Given the description of an element on the screen output the (x, y) to click on. 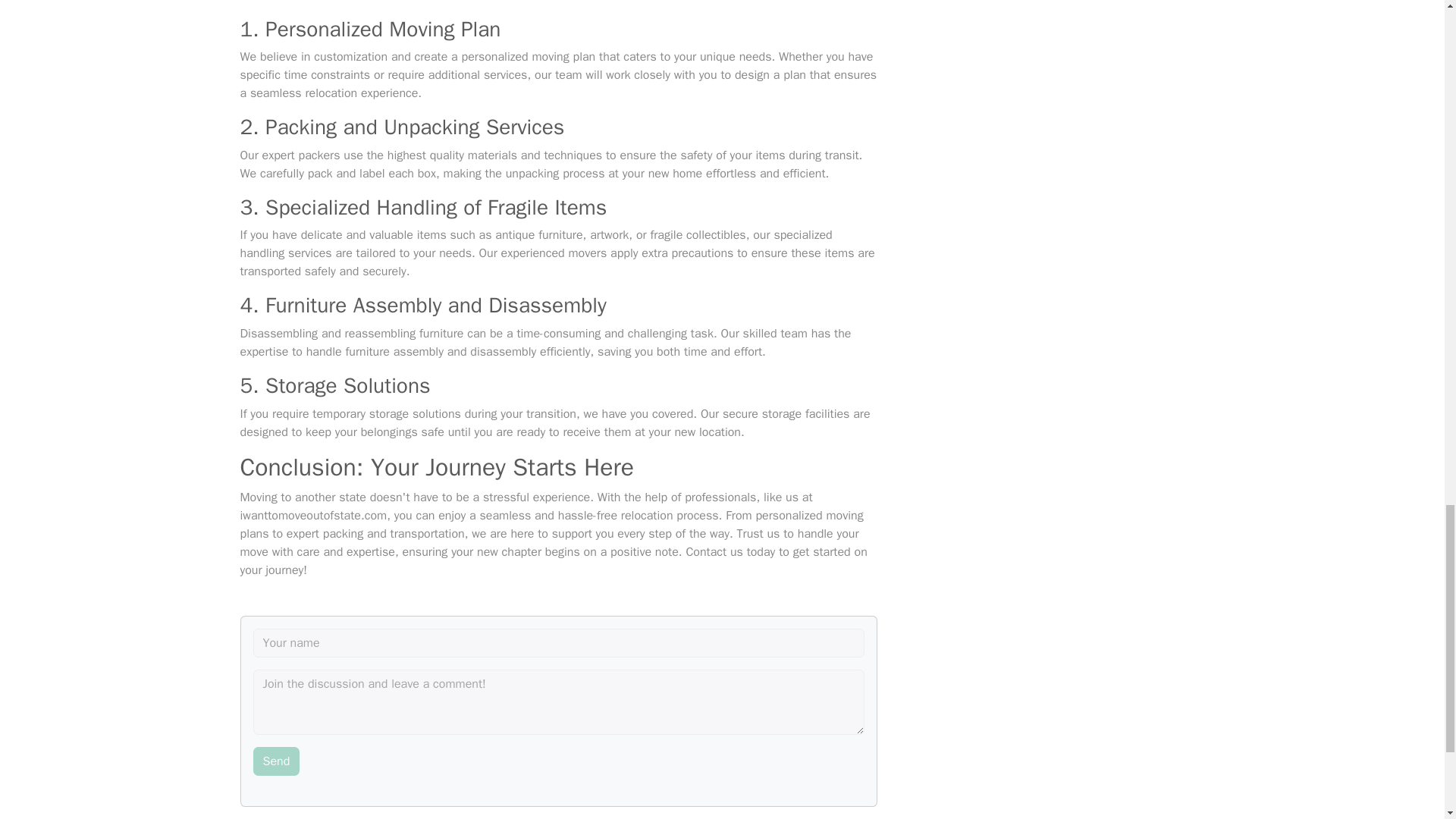
Send (276, 760)
Send (276, 760)
